Given the description of an element on the screen output the (x, y) to click on. 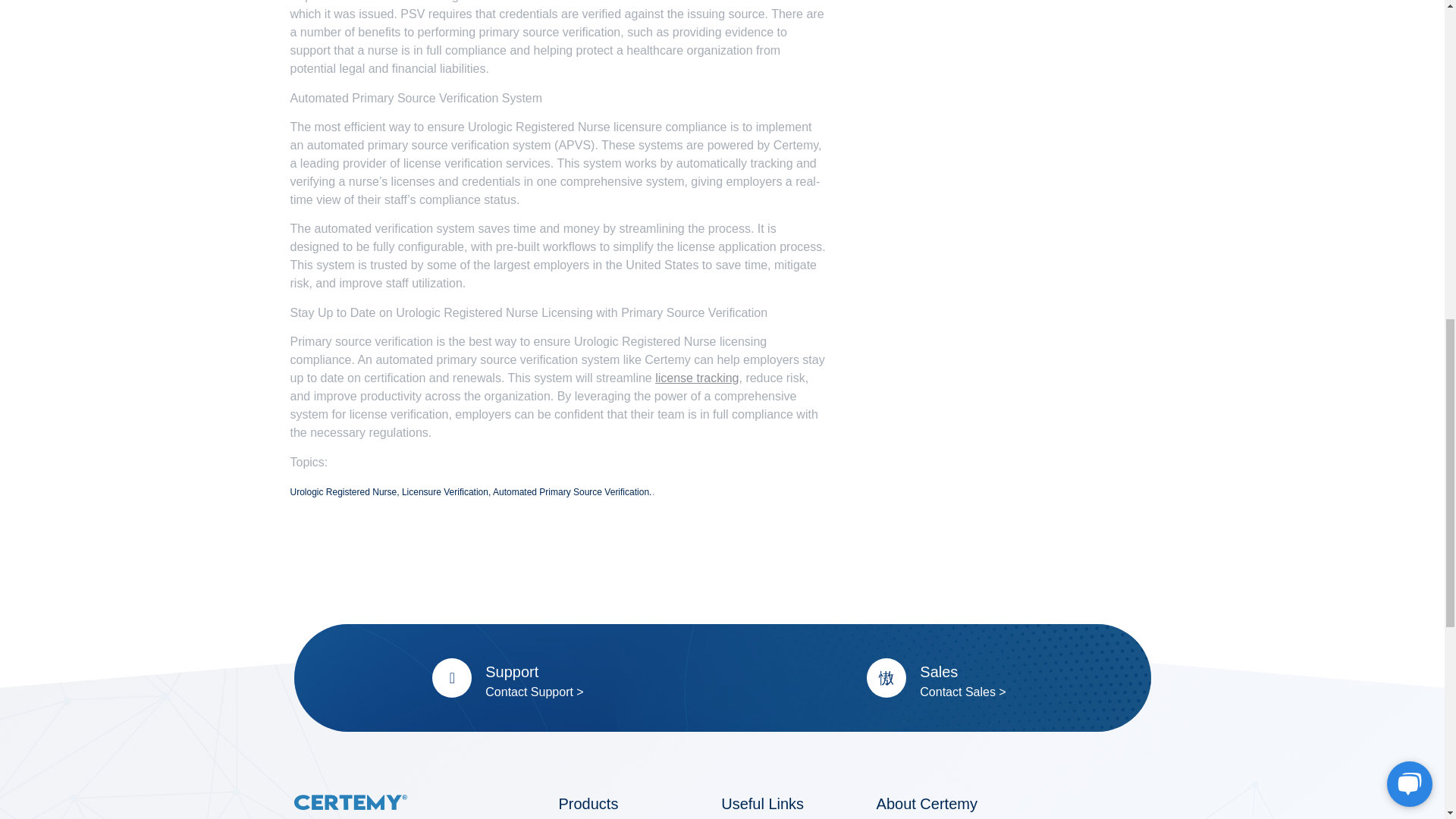
Support (511, 671)
License Tracking (696, 377)
license tracking (696, 377)
